Given the description of an element on the screen output the (x, y) to click on. 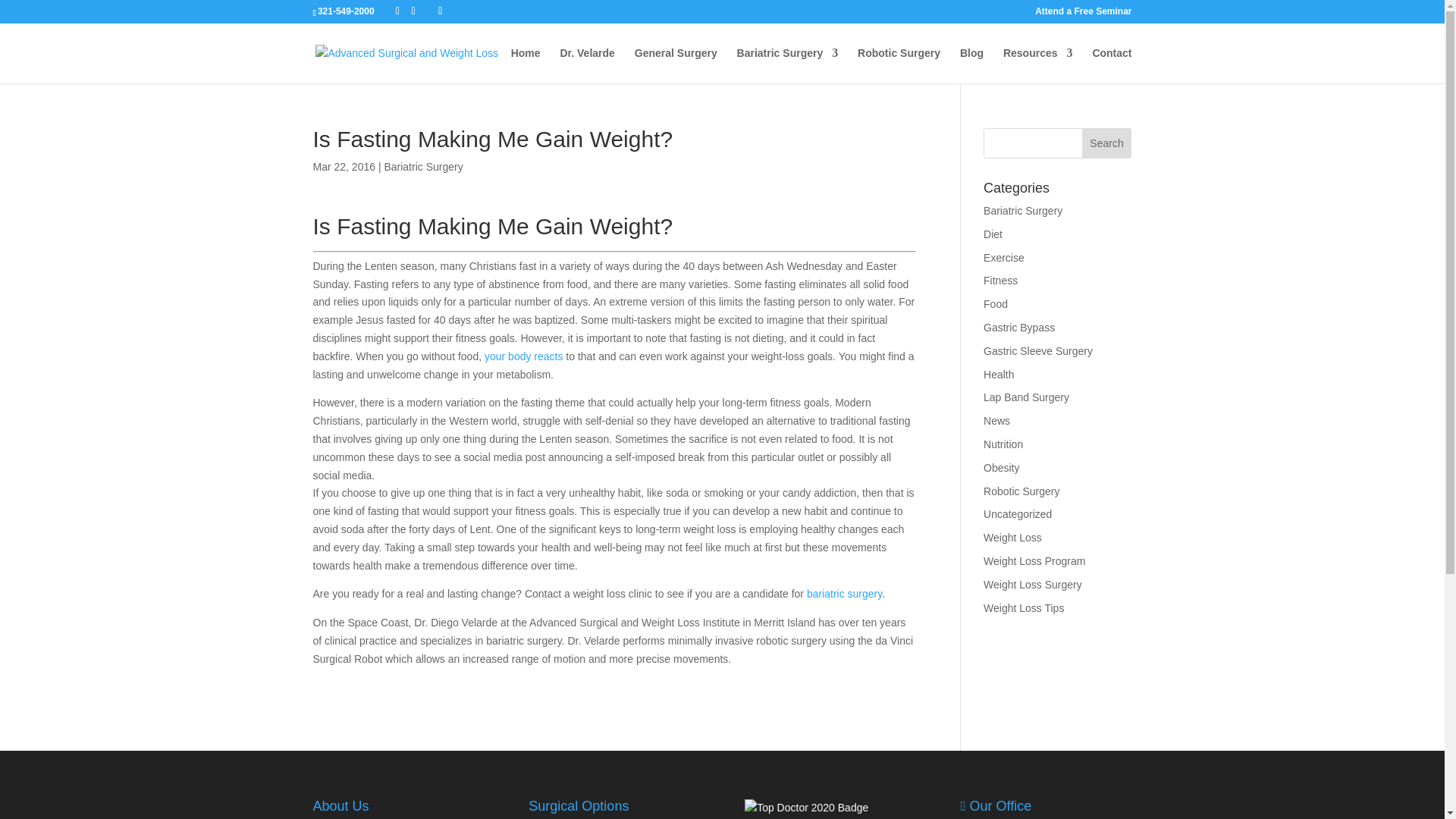
Search (1106, 142)
Bariatric Surgery (423, 166)
Food (995, 304)
Gastric Bypass (1019, 327)
your body reacts (523, 356)
Attend a Free Seminar (1083, 14)
Fitness (1000, 280)
Health (998, 374)
Resources (1038, 65)
Bariatric Surgery (1023, 210)
